Given the description of an element on the screen output the (x, y) to click on. 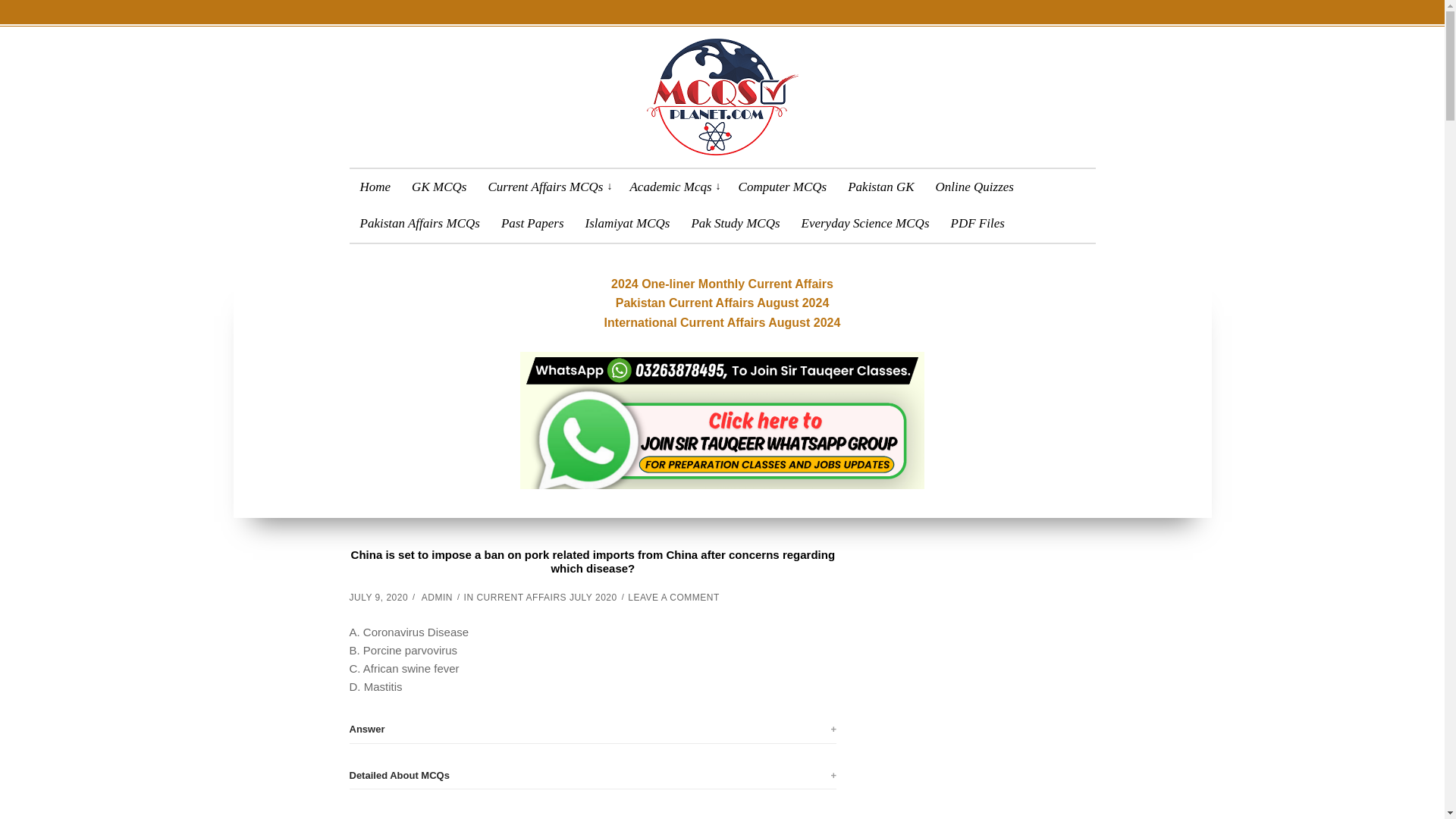
Everyday Science MCQs (866, 223)
CURRENT AFFAIRS JULY 2020 (545, 597)
Pakistan Affairs MCQs (419, 223)
Pakistan GK (880, 186)
Pakistan Current Affairs August 2024 (722, 302)
Computer MCQs (782, 186)
PDF Files (977, 223)
2024 One-liner Monthly Current Affairs (721, 283)
Academic Mcqs (672, 186)
